Given the description of an element on the screen output the (x, y) to click on. 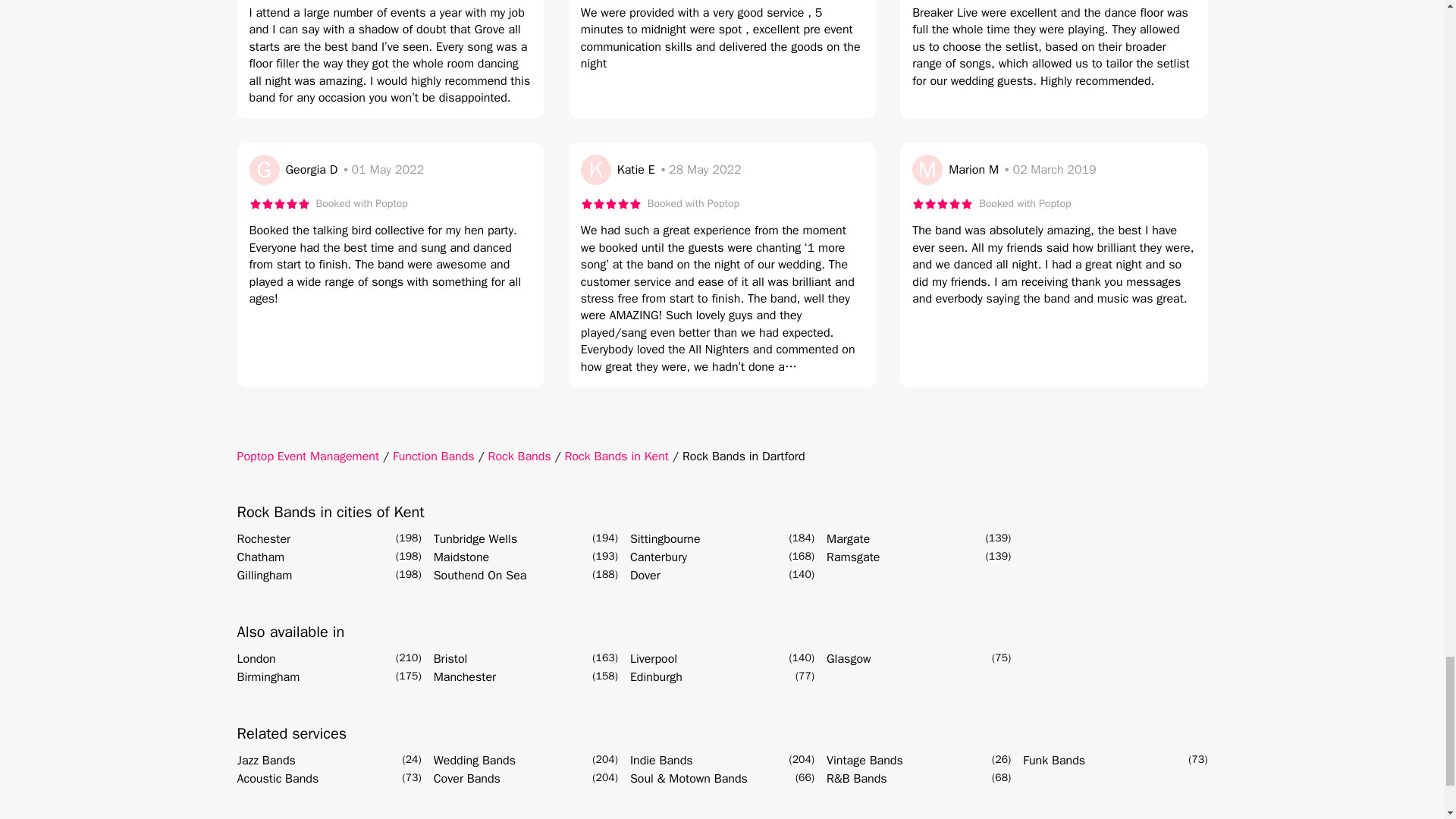
Rock Bands in Kent (616, 456)
Margate (848, 538)
Rock Bands (519, 456)
Poptop Event Management (306, 456)
Ramsgate (853, 556)
Tunbridge Wells (475, 538)
Gillingham (263, 575)
Rochester (262, 538)
Dover (645, 575)
Maidstone (461, 556)
